Given the description of an element on the screen output the (x, y) to click on. 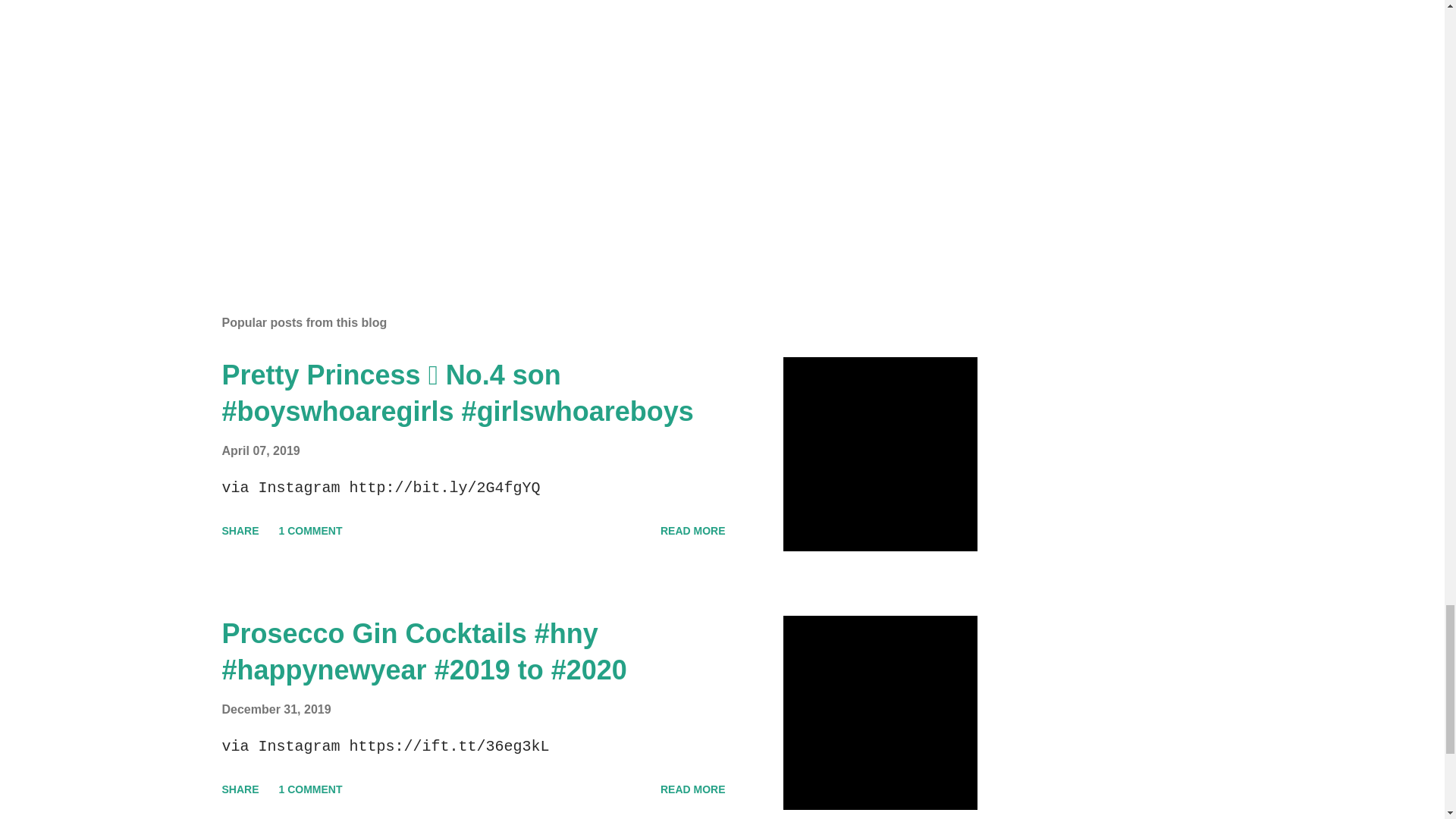
SHARE (239, 530)
April 07, 2019 (260, 450)
1 COMMENT (311, 530)
